Given the description of an element on the screen output the (x, y) to click on. 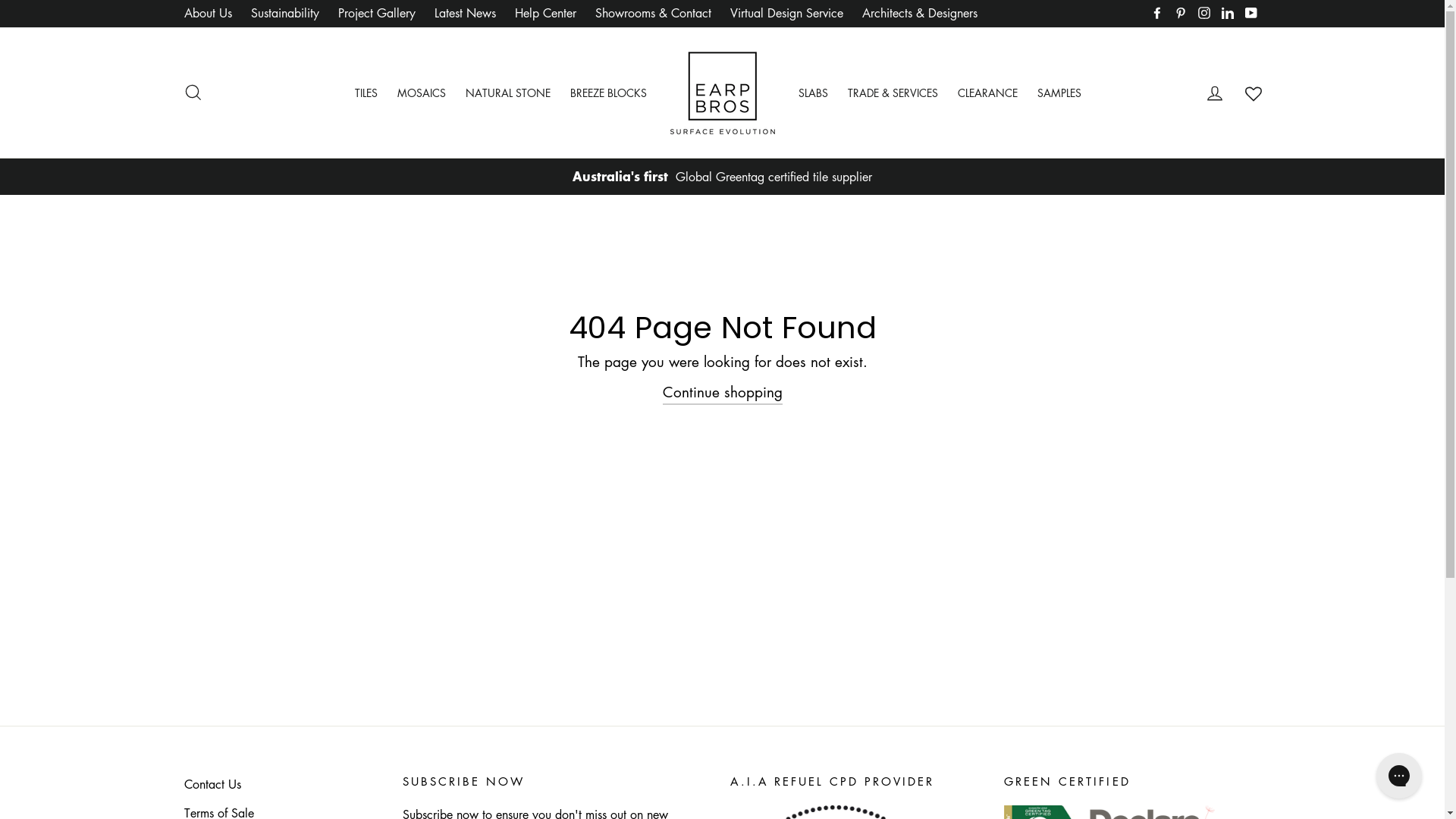
Facebook Element type: text (1156, 13)
YouTube Element type: text (1250, 13)
TILES Element type: text (366, 92)
Architects & Designers Element type: text (918, 13)
Gorgias live chat messenger Element type: hover (1398, 775)
Instagram Element type: text (1203, 13)
Log in Element type: text (1214, 92)
Project Gallery Element type: text (376, 13)
BREEZE BLOCKS Element type: text (608, 92)
SAMPLES Element type: text (1058, 92)
MOSAICS Element type: text (421, 92)
Virtual Design Service Element type: text (785, 13)
NATURAL STONE Element type: text (508, 92)
About Us Element type: text (206, 13)
Continue shopping Element type: text (722, 392)
Help Center Element type: text (544, 13)
Skip to content Element type: text (0, 0)
Contact Us Element type: text (211, 784)
Pinterest Element type: text (1180, 13)
Latest News Element type: text (464, 13)
Showrooms & Contact Element type: text (652, 13)
TRADE & SERVICES Element type: text (892, 92)
Sustainability Element type: text (284, 13)
LinkedIn Element type: text (1227, 13)
SLABS Element type: text (812, 92)
CLEARANCE Element type: text (986, 92)
Search Element type: text (192, 92)
